Given the description of an element on the screen output the (x, y) to click on. 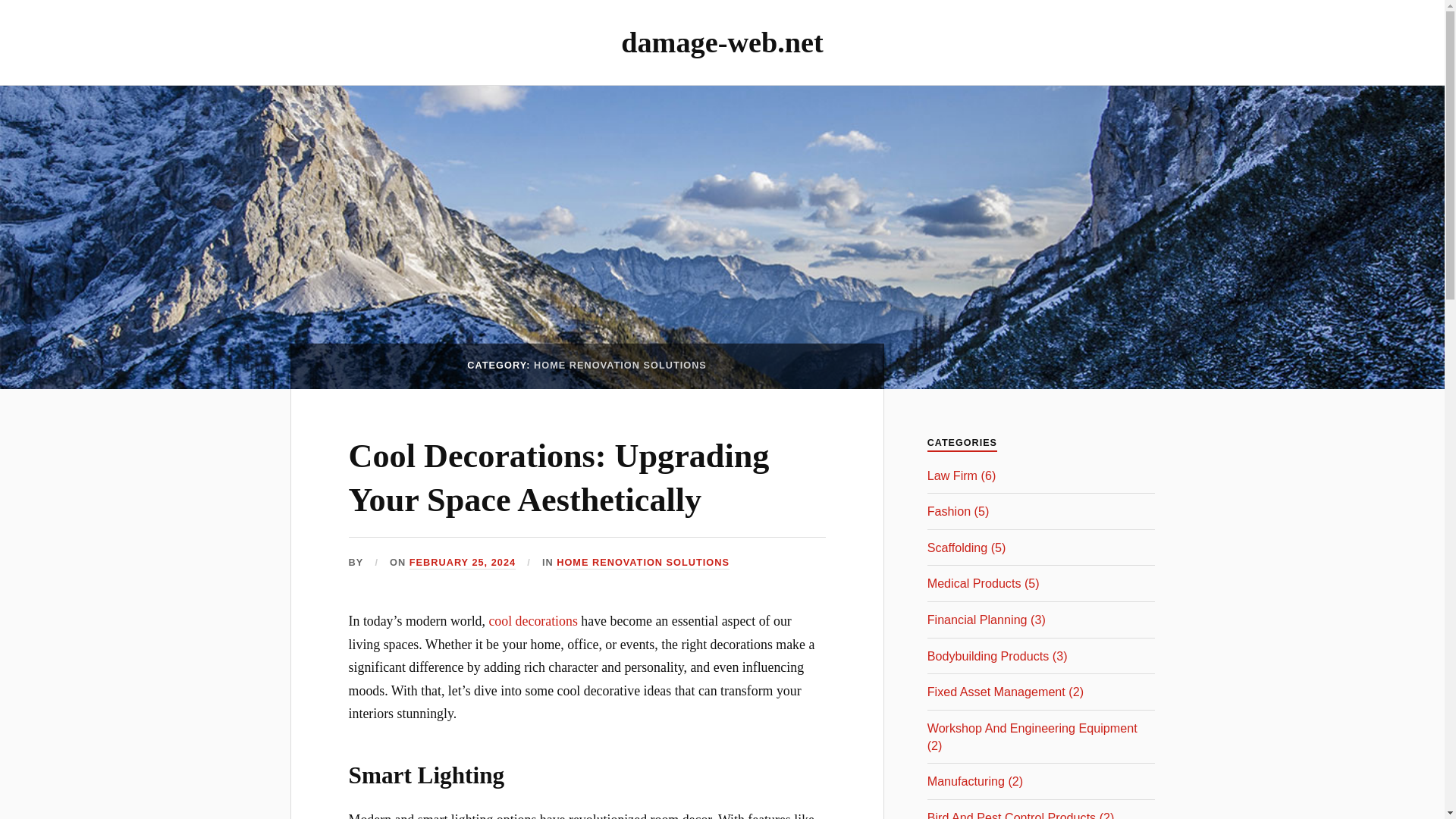
cool decorations (531, 620)
HOME RENOVATION SOLUTIONS (642, 562)
Cool Decorations: Upgrading Your Space Aesthetically (559, 477)
FEBRUARY 25, 2024 (462, 562)
damage-web.net (722, 42)
